Given the description of an element on the screen output the (x, y) to click on. 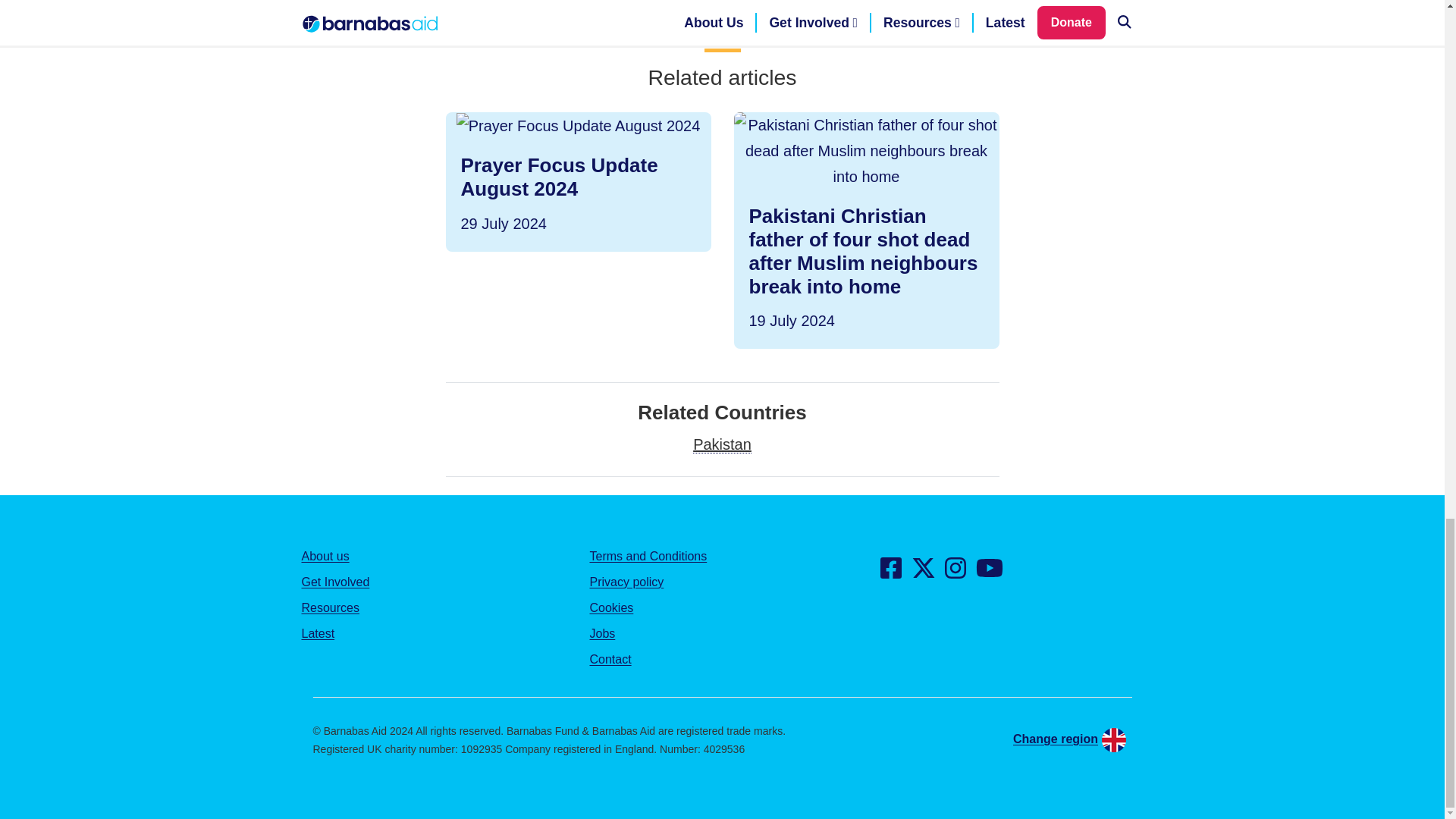
Follow Barnabas Aid on Twitter X (923, 572)
About us (325, 555)
Follow Barnabas Aid on Instagram (578, 181)
Subscribe to Barnabas Aid on YouTube (955, 572)
Pakistan (989, 572)
Like Barnabas Aid on Facebook (722, 444)
